Given the description of an element on the screen output the (x, y) to click on. 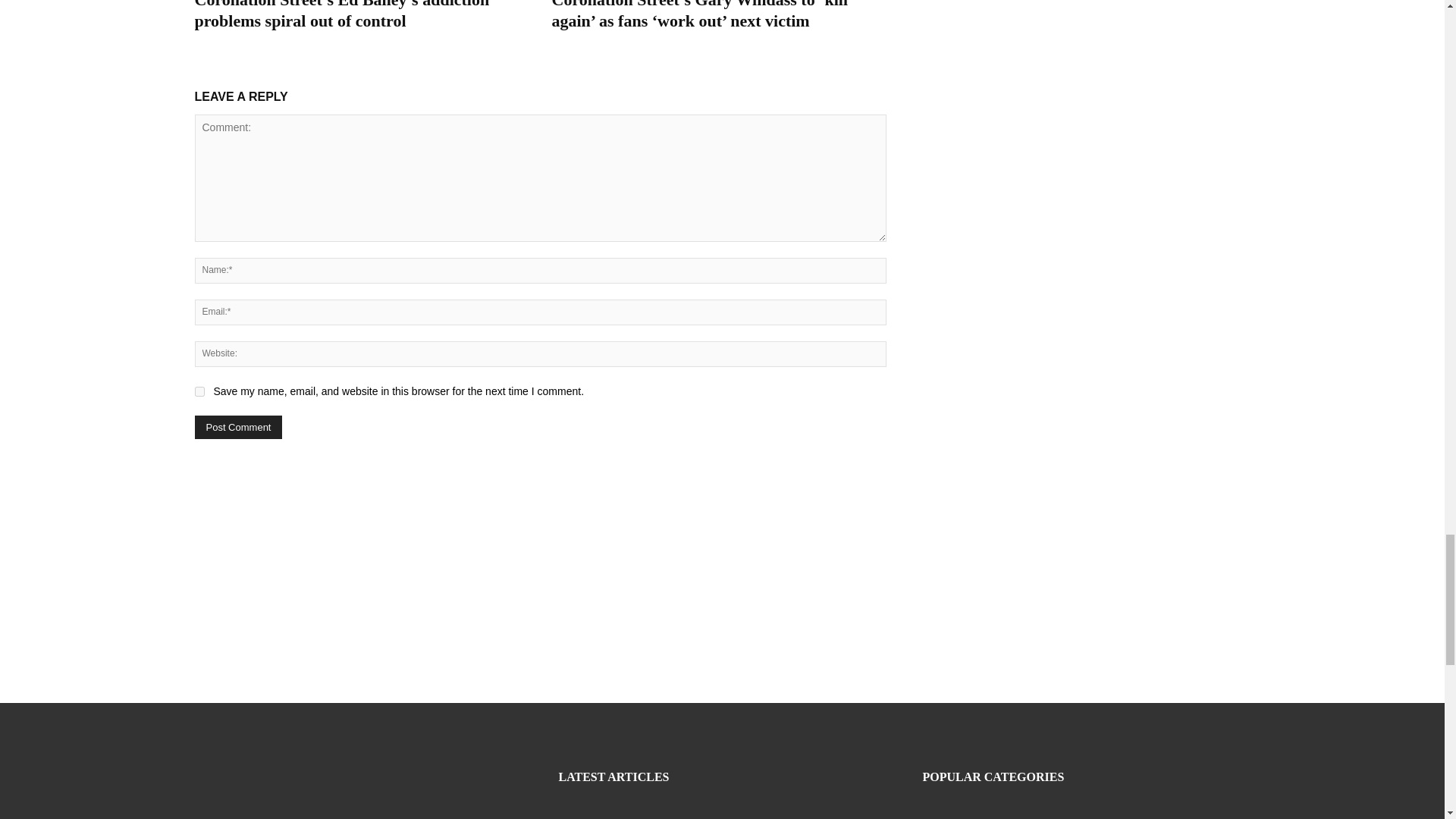
Post Comment (237, 426)
yes (198, 391)
